Given the description of an element on the screen output the (x, y) to click on. 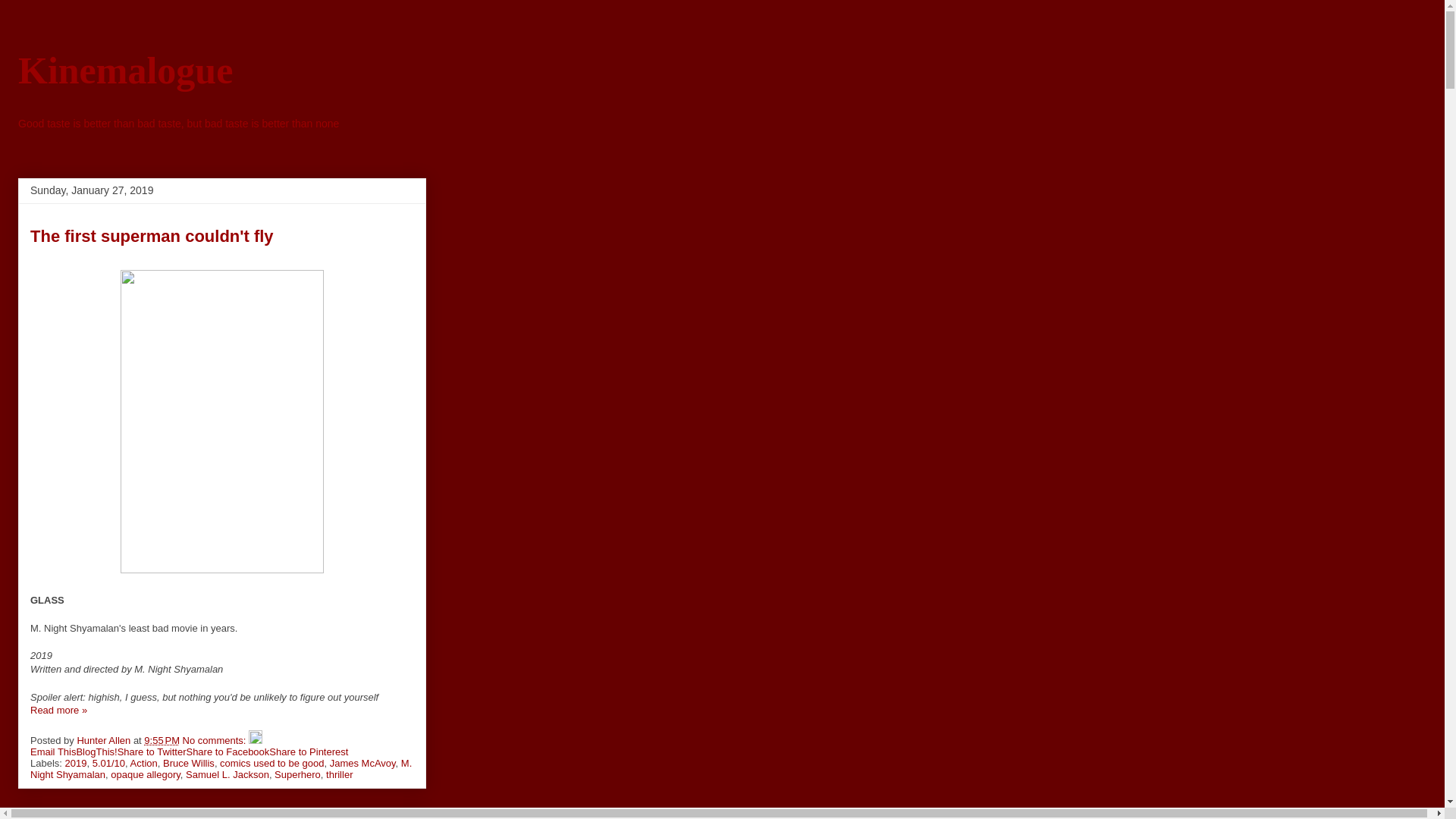
The first superman couldn't fly (58, 709)
comics used to be good (271, 763)
2019 (76, 763)
The first superman couldn't fly (151, 235)
James McAvoy (363, 763)
Share to Facebook (227, 751)
author profile (104, 740)
BlogThis! (95, 751)
Share to Twitter (151, 751)
Email This (52, 751)
Edit Post (255, 740)
Share to Pinterest (308, 751)
Kinemalogue (124, 69)
permanent link (161, 740)
No comments: (215, 740)
